Given the description of an element on the screen output the (x, y) to click on. 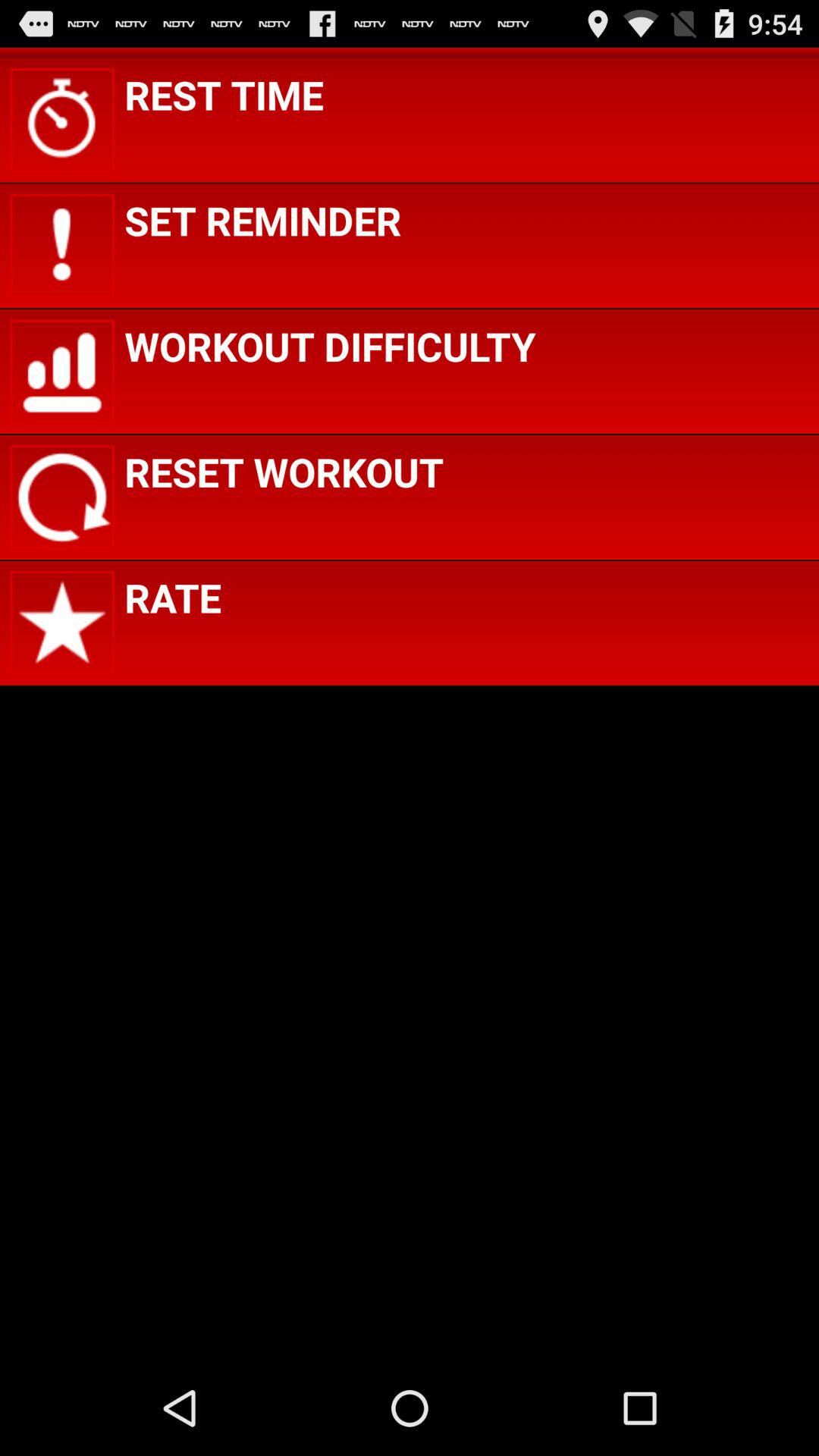
turn off rest time item (223, 94)
